Given the description of an element on the screen output the (x, y) to click on. 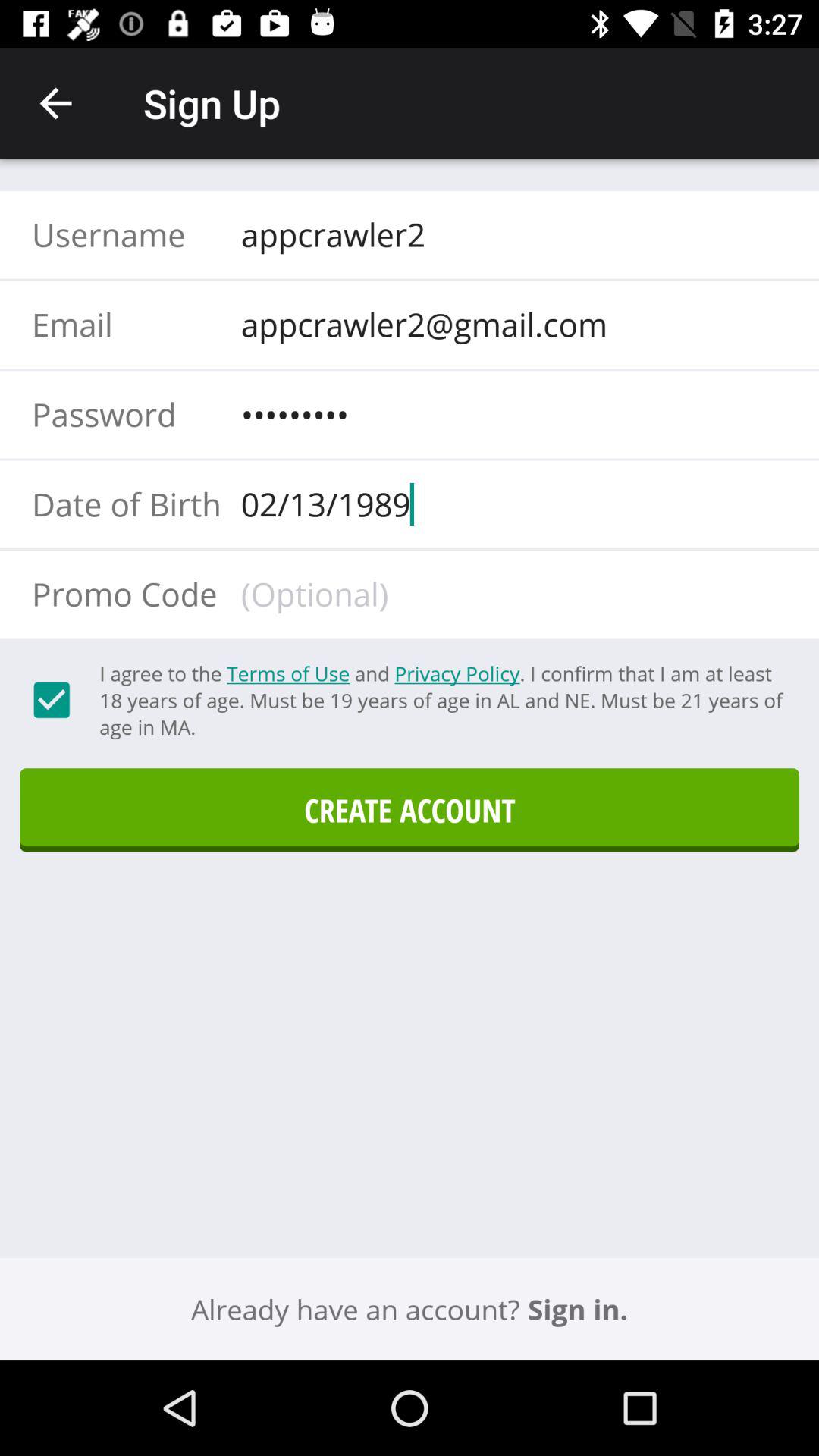
turn on the 02/13/1989 item (508, 503)
